Given the description of an element on the screen output the (x, y) to click on. 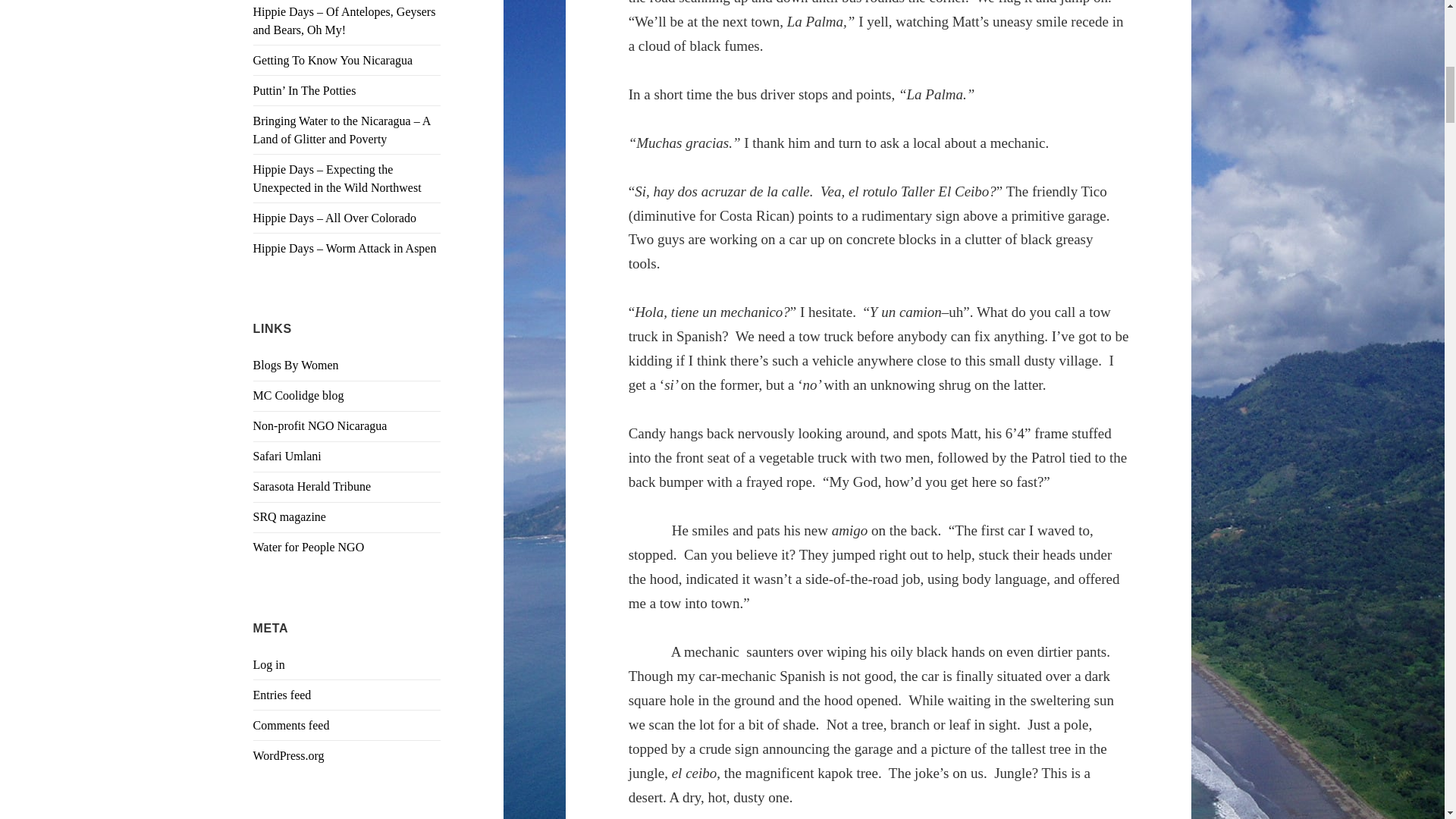
Log in (269, 664)
Sarasota Herald Tribune (312, 486)
WordPress.org (288, 755)
SRQ magazine (289, 516)
MC Coolidge blog (298, 395)
Getting To Know You Nicaragua (333, 60)
Comments feed (291, 725)
Safari Umlani (287, 455)
Entries feed (282, 694)
Water for People NGO (309, 546)
Blogs By Women (296, 364)
Non-profit NGO Nicaragua (320, 425)
